Given the description of an element on the screen output the (x, y) to click on. 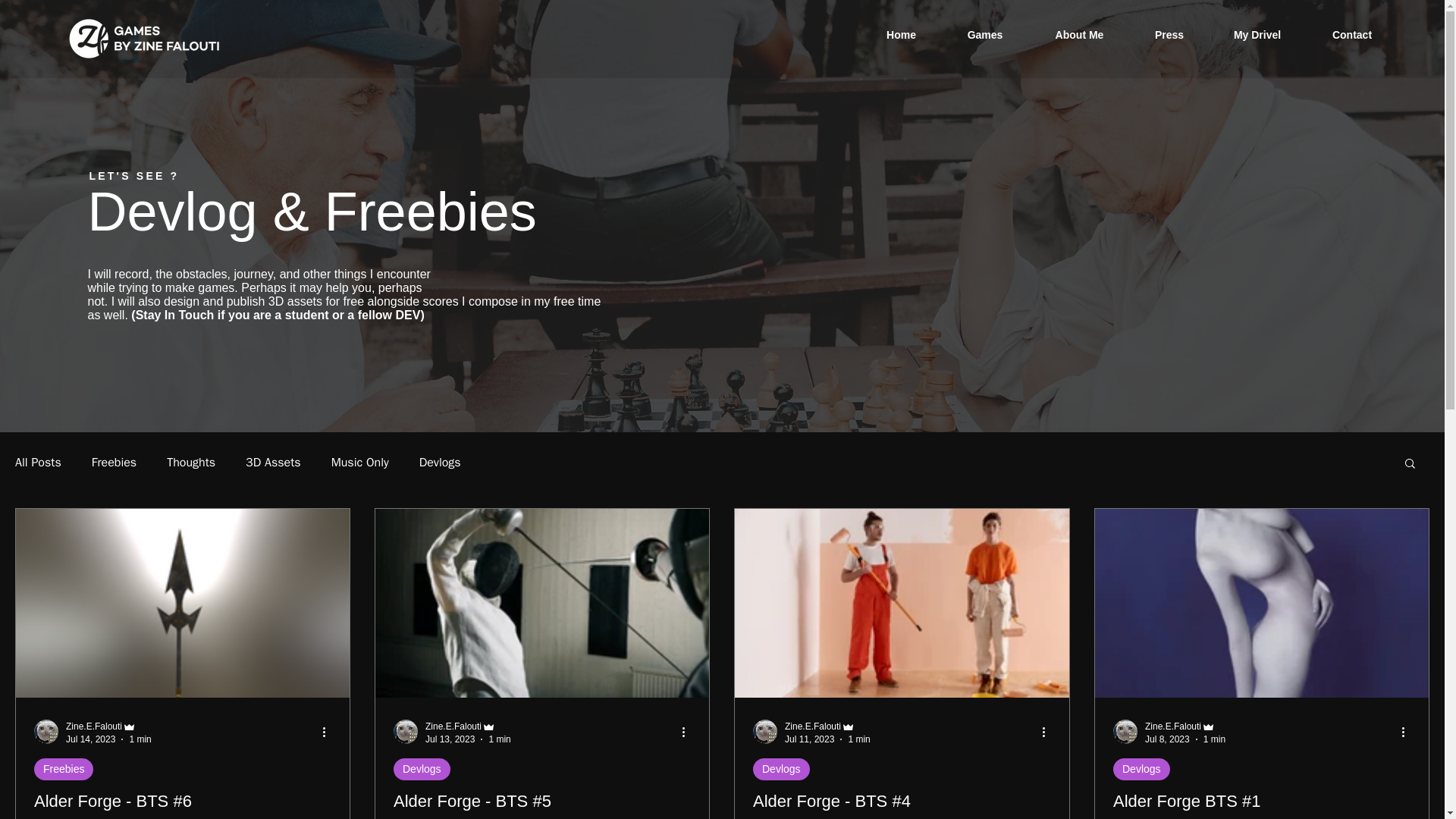
3D Assets (273, 462)
Jul 14, 2023 (90, 738)
1 min (499, 738)
Freebies (113, 462)
Jul 8, 2023 (1166, 738)
About Me (1079, 34)
Press (1169, 34)
Games (984, 34)
Zine.E.Falouti (1172, 726)
Devlogs (440, 462)
Contact (1351, 34)
Devlogs (421, 769)
Devlogs (1141, 769)
1 min (140, 738)
My Drivel (1257, 34)
